Given the description of an element on the screen output the (x, y) to click on. 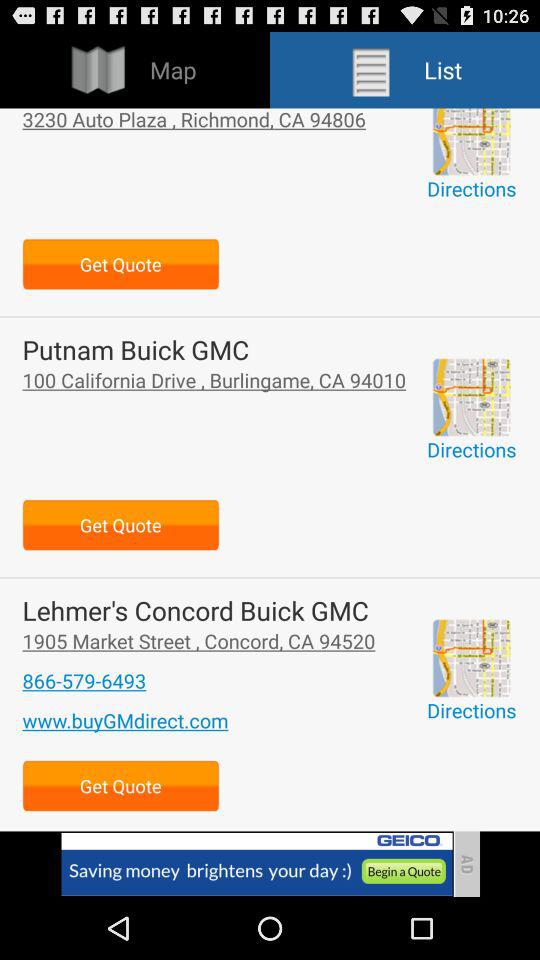
view map (471, 397)
